Given the description of an element on the screen output the (x, y) to click on. 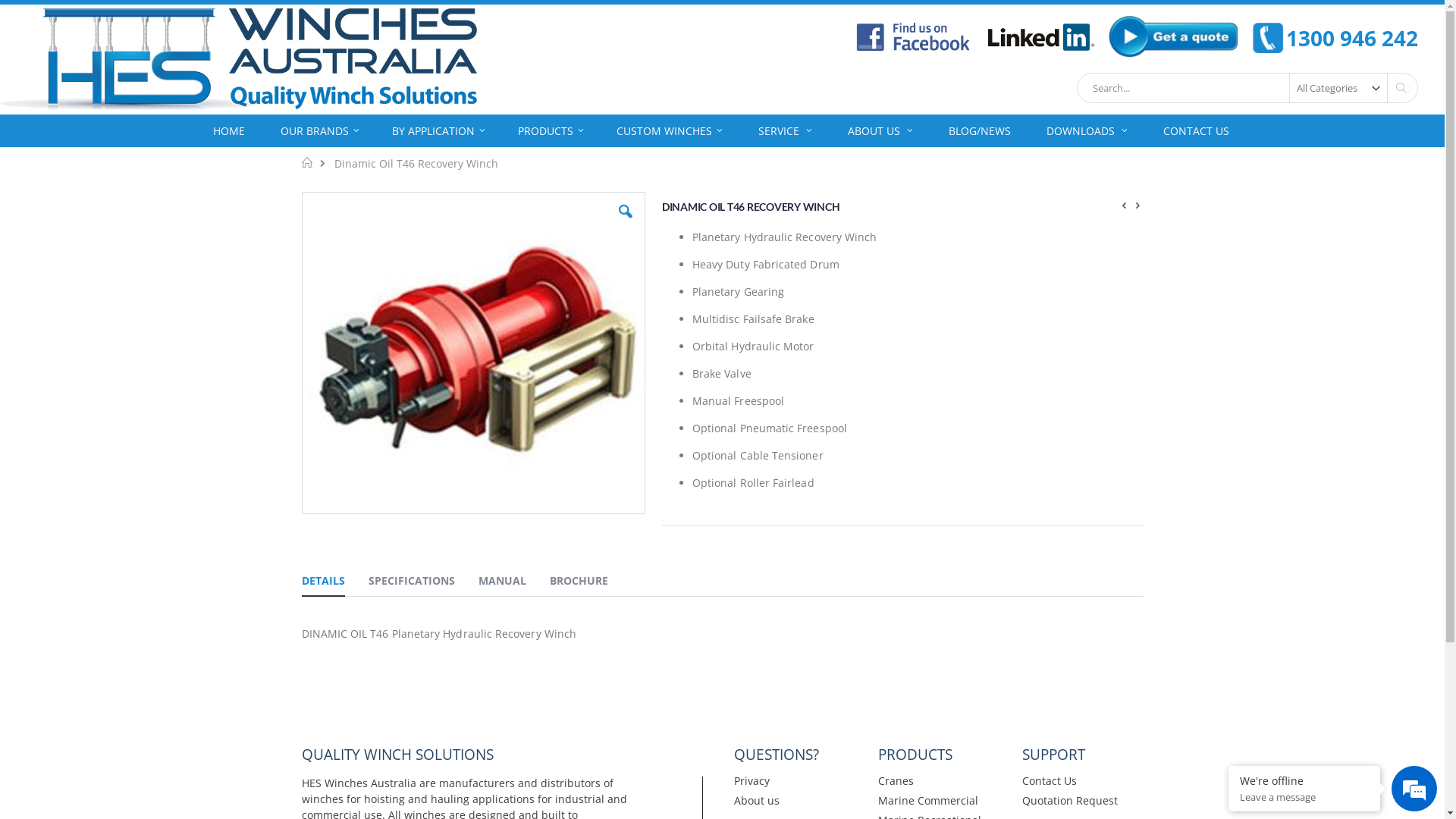
Home Element type: text (307, 161)
Quotation Request Element type: text (1069, 800)
HOME Element type: text (228, 130)
Skip to the beginning of the images gallery Element type: text (300, 514)
BROCHURE Element type: text (578, 582)
About us Element type: text (756, 800)
Skip to the end of the images gallery Element type: text (300, 191)
DETAILS Element type: text (323, 582)
BY APPLICATION Element type: text (438, 130)
1300 946 242 Element type: text (1335, 37)
Next Product Element type: hover (1137, 203)
Marine Commercial Element type: text (928, 800)
CUSTOM WINCHES Element type: text (669, 130)
CONTACT US Element type: text (1196, 130)
Privacy Element type: text (751, 780)
BLOG/NEWS Element type: text (979, 130)
OUR BRANDS Element type: text (319, 130)
Previous Product Element type: hover (1124, 203)
Contact Us Element type: text (1049, 780)
ABOUT US Element type: text (880, 130)
SERVICE Element type: text (785, 130)
SPECIFICATIONS Element type: text (411, 582)
Search Element type: text (1400, 87)
MANUAL Element type: text (501, 582)
PRODUCTS Element type: text (550, 130)
DOWNLOADS Element type: text (1086, 130)
Cranes Element type: text (895, 780)
